Given the description of an element on the screen output the (x, y) to click on. 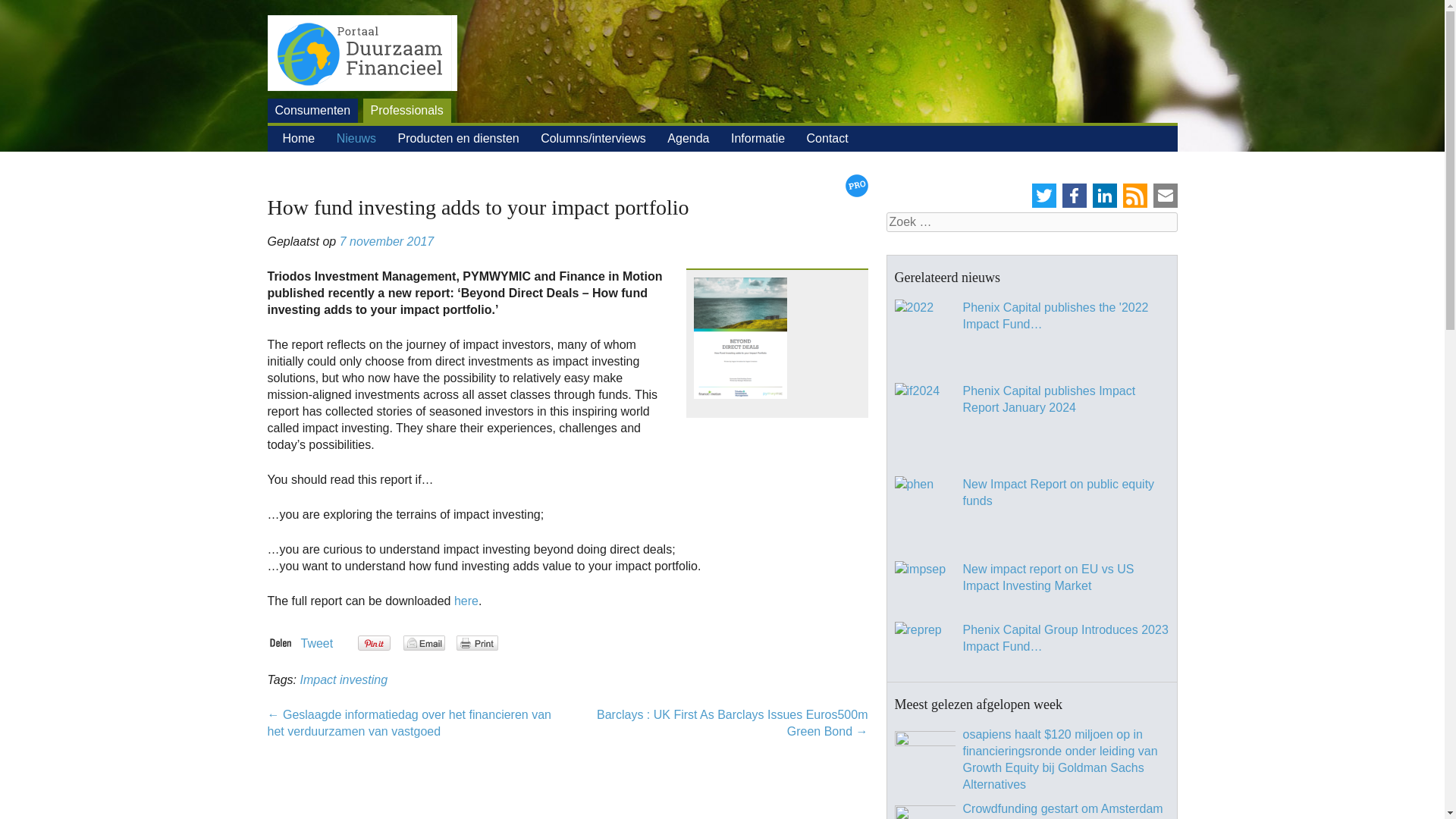
15:09 (386, 241)
Professionals (406, 110)
Home (298, 138)
Contact (827, 138)
Tweet (316, 643)
7 november 2017 (386, 241)
Consumenten (312, 110)
New impact report on EU vs US Impact Investing Market (925, 587)
here (466, 600)
Informatie (757, 138)
Producten en diensten (458, 138)
Agenda (687, 138)
Print (477, 642)
Nieuws (355, 138)
